Given the description of an element on the screen output the (x, y) to click on. 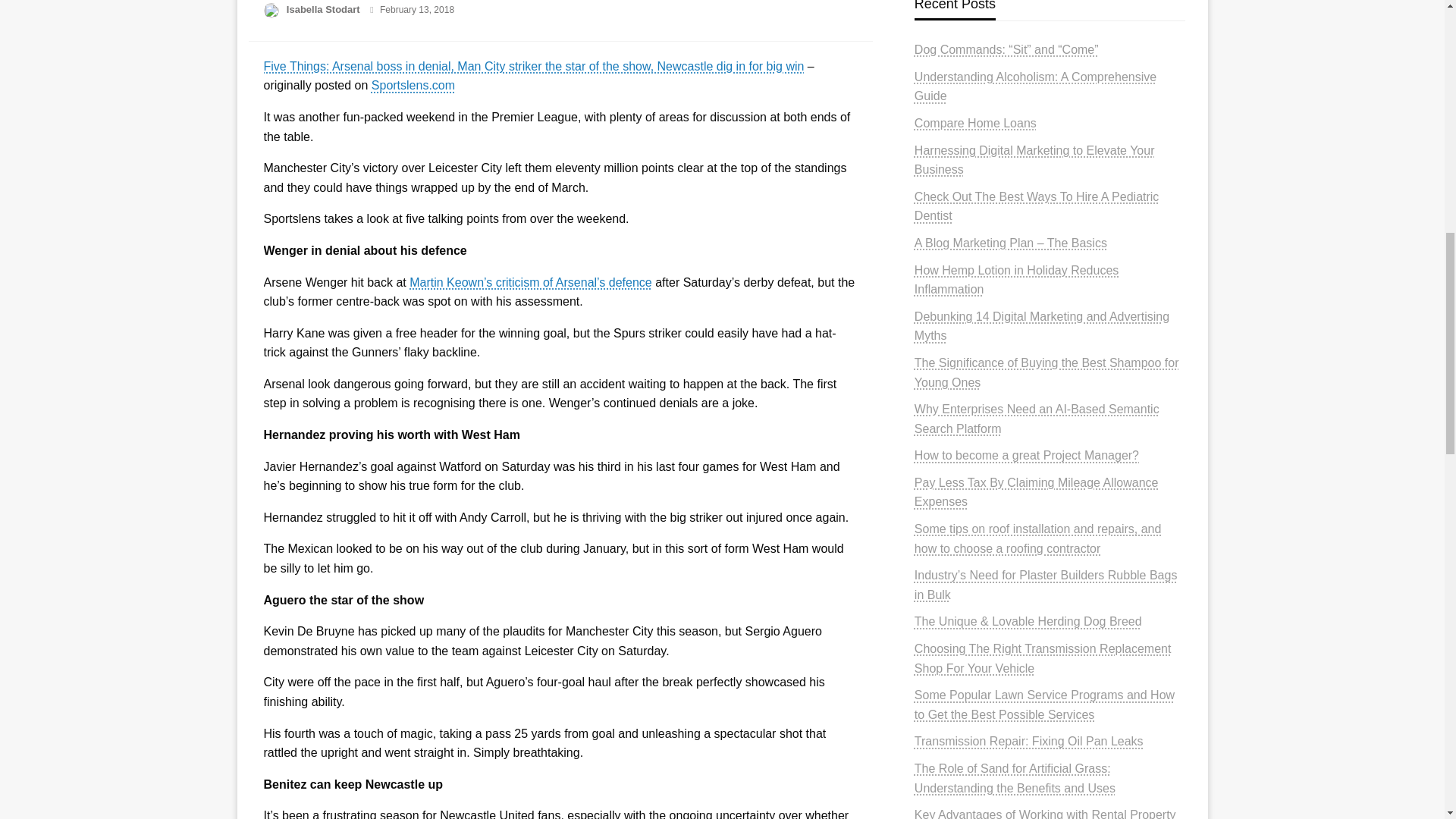
Sportslens.com (412, 84)
February 13, 2018 (417, 9)
Isabella Stodart (324, 9)
Isabella Stodart (324, 9)
